Given the description of an element on the screen output the (x, y) to click on. 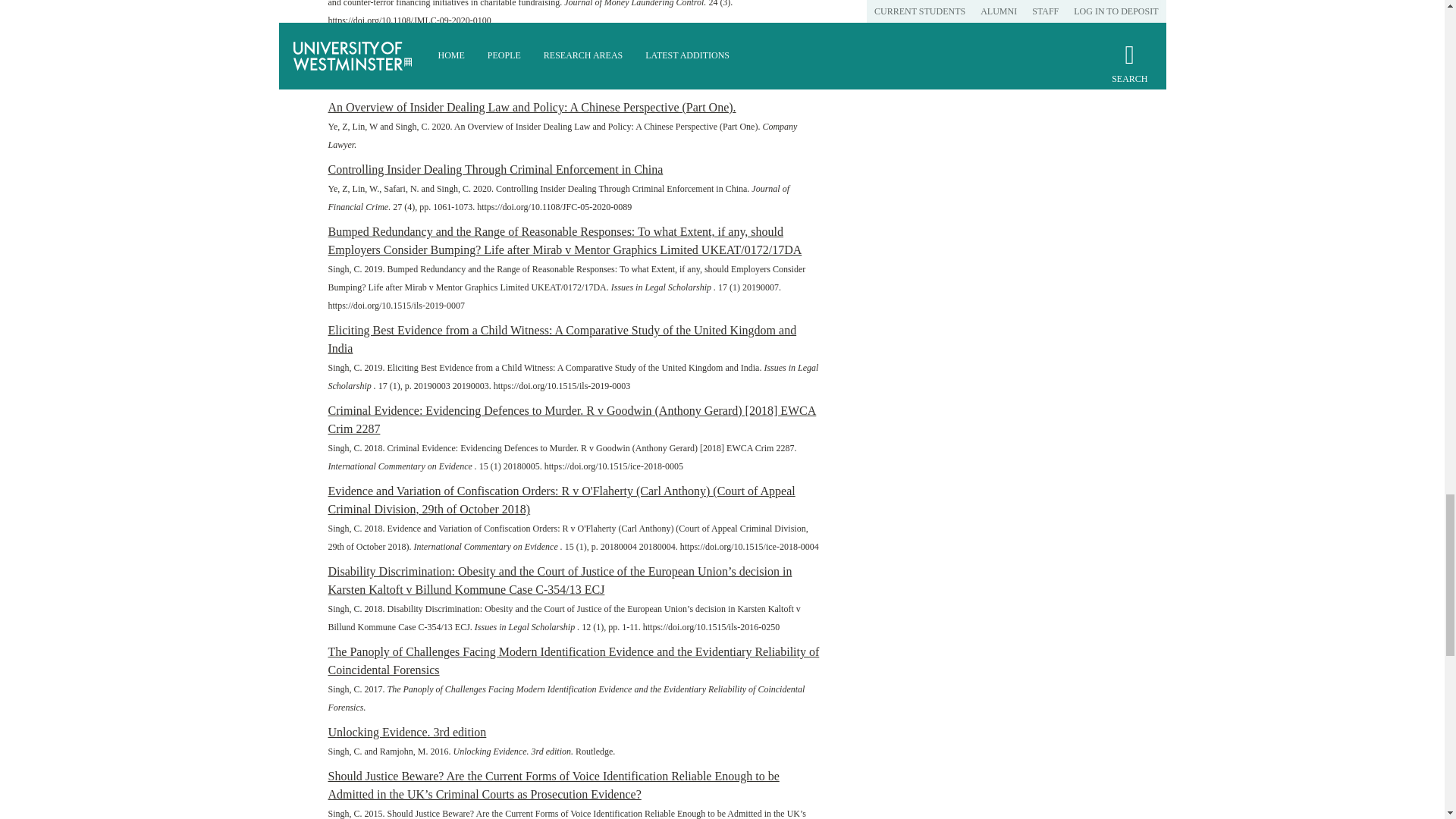
Unlocking Evidence. 3rd edition (406, 731)
